Given the description of an element on the screen output the (x, y) to click on. 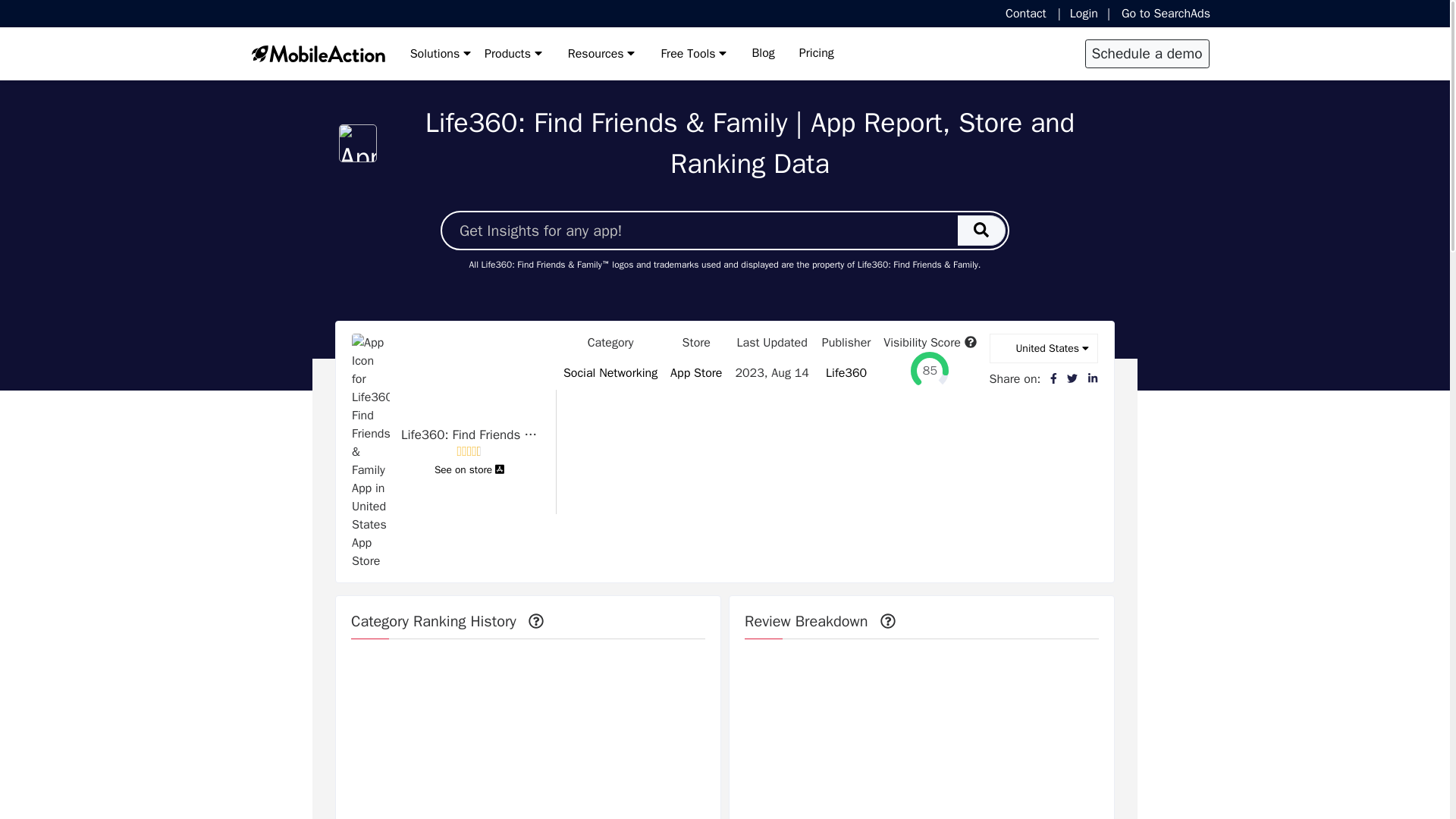
Contact (1032, 13)
Login (1083, 13)
Products (513, 53)
Solutions (440, 53)
Go to SearchAds (1159, 13)
